Given the description of an element on the screen output the (x, y) to click on. 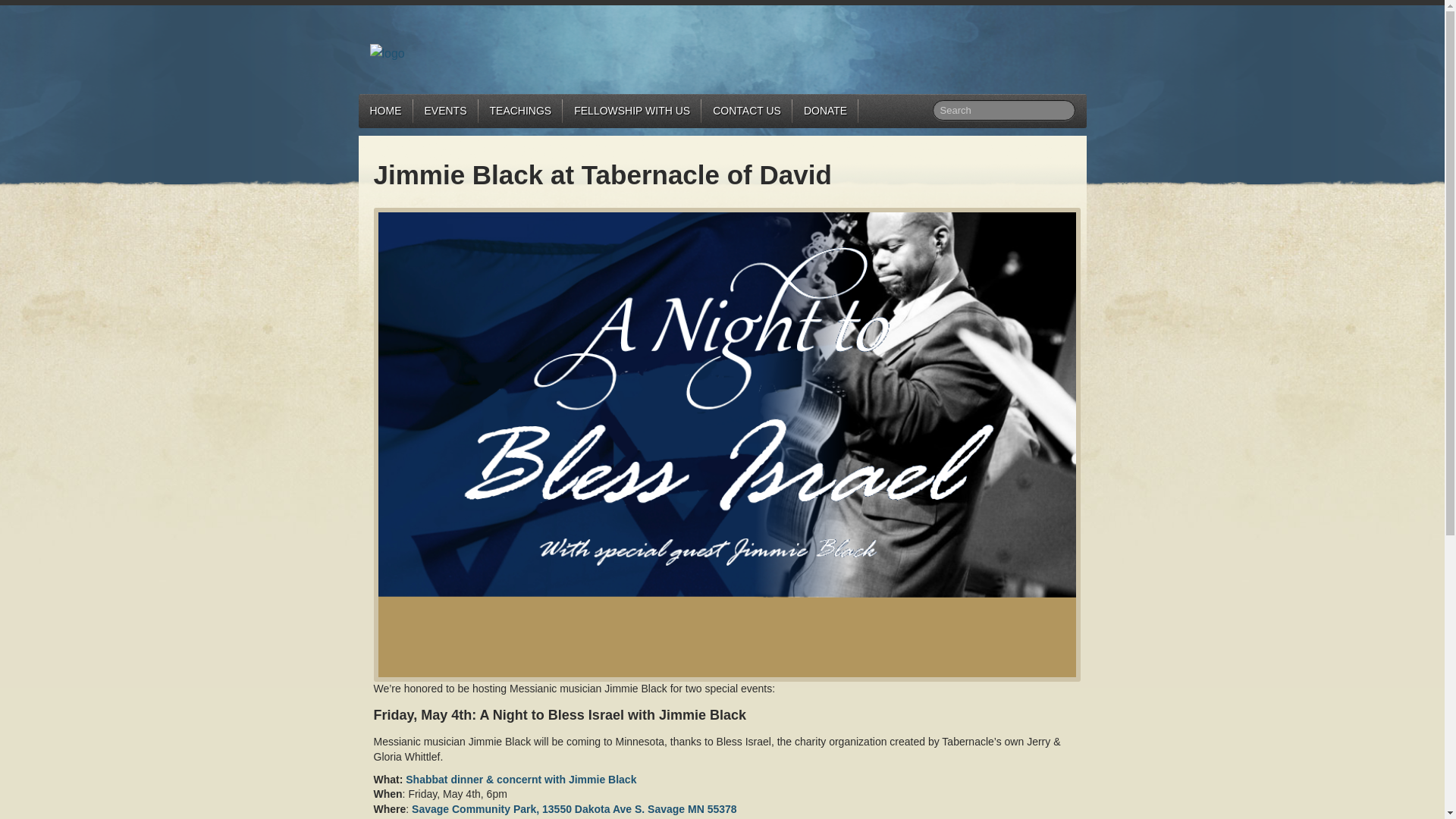
examples (688, 818)
HOME (385, 110)
Savage Community Park, 13550 Dakota Ave S. Savage MN 55378 (574, 808)
CONTACT US (746, 110)
EVENTS (444, 110)
TEACHINGS (521, 110)
Tabernacle of David (386, 51)
DONATE (825, 110)
FELLOWSHIP WITH US (631, 110)
